Given the description of an element on the screen output the (x, y) to click on. 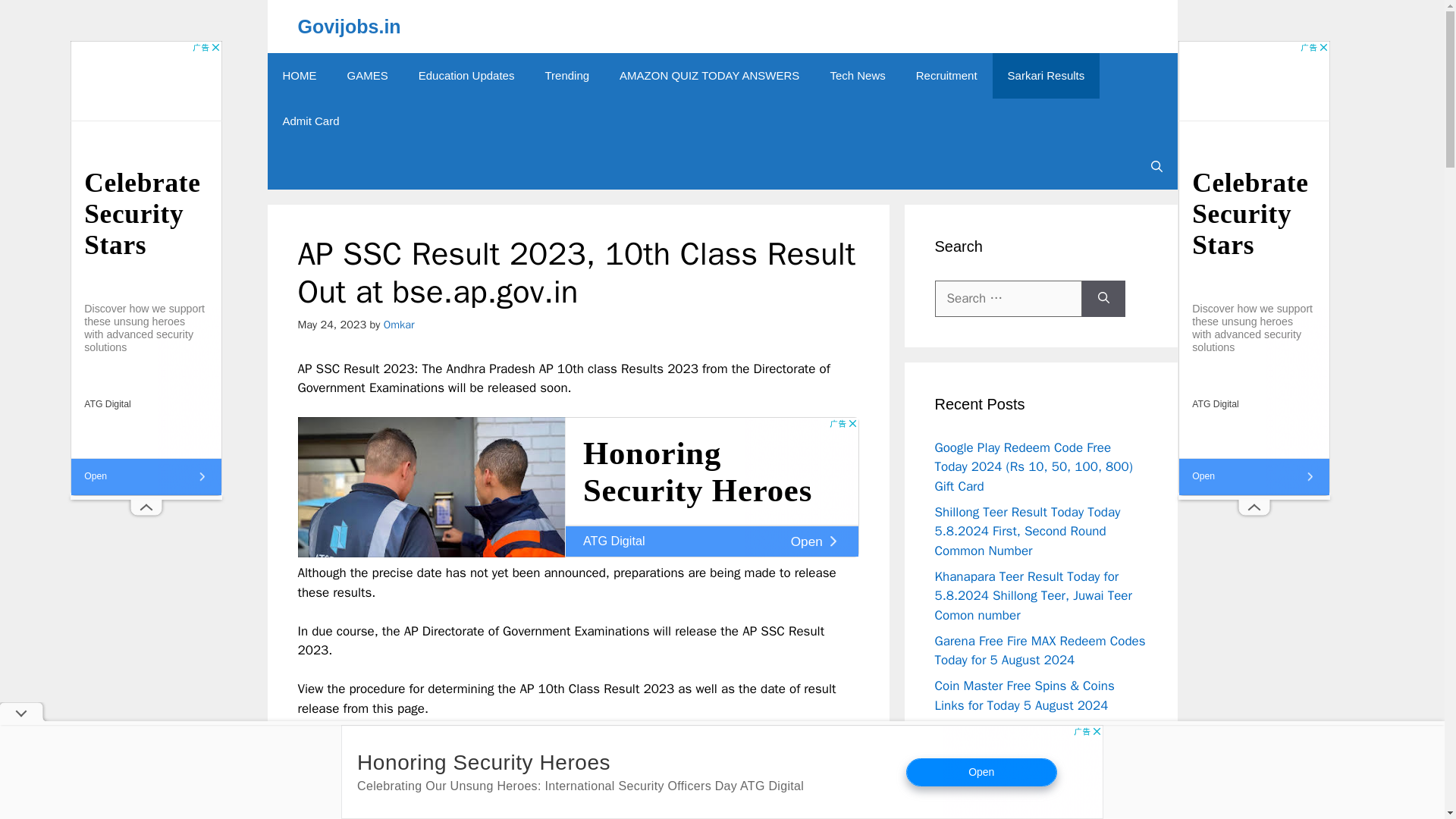
Sarkari Results (1046, 75)
GAMES (367, 75)
Garena Free Fire MAX Redeem Codes Today for 5 August 2024 (1039, 650)
AMAZON QUIZ TODAY ANSWERS (708, 75)
Search for: (1007, 298)
Advertisement (721, 771)
HOME (298, 75)
View all posts by Omkar (399, 324)
Govijobs.in (348, 25)
Recruitment (946, 75)
Admit Card (309, 121)
Advertisement (578, 486)
Advertisement (578, 778)
